Given the description of an element on the screen output the (x, y) to click on. 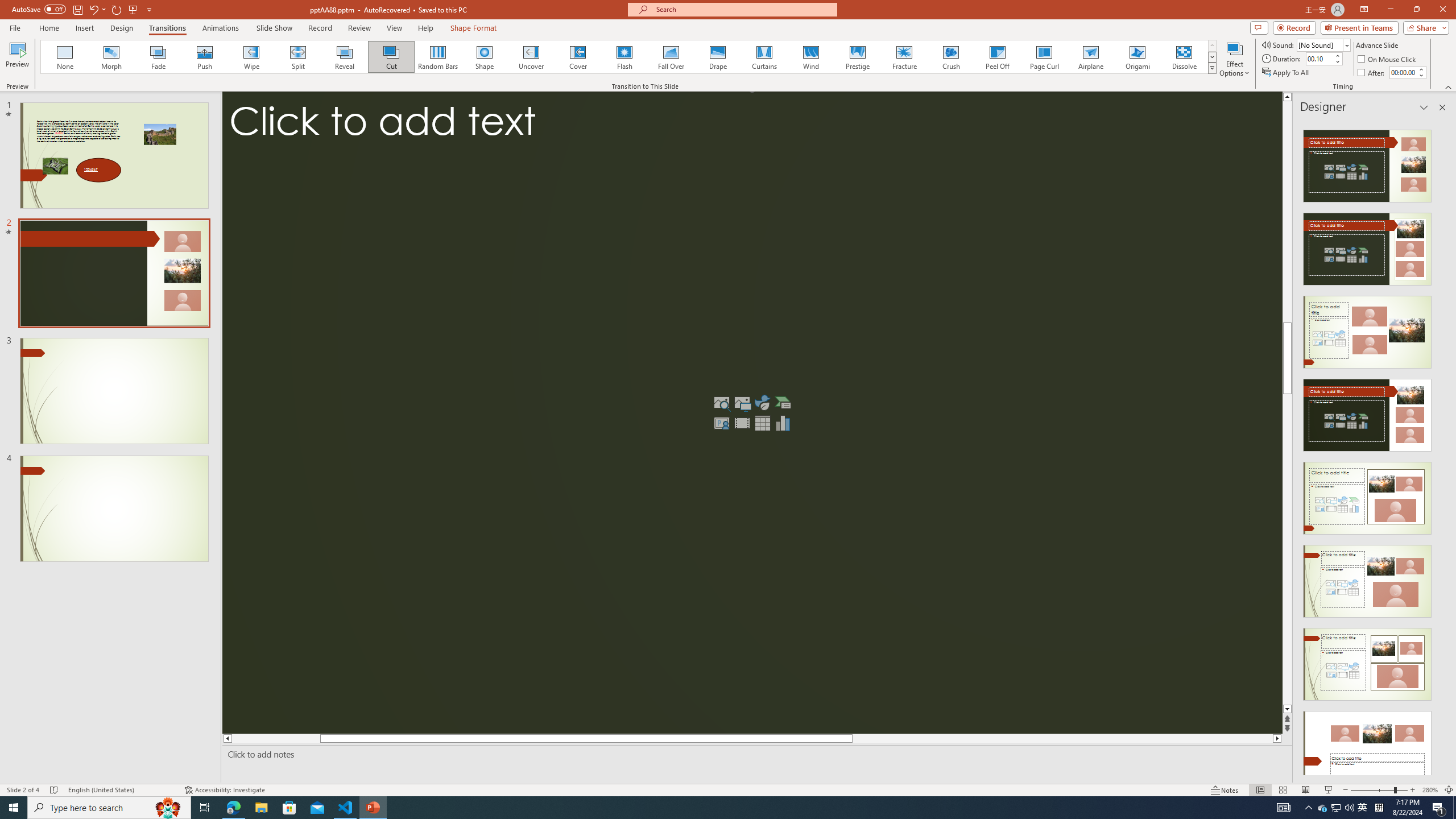
Decorative Locked (752, 412)
Fade (158, 56)
Class: NetUIScrollBar (1441, 447)
Content Placeholder (752, 412)
Wind (810, 56)
Curtains (764, 56)
Insert an Icon (762, 402)
